Given the description of an element on the screen output the (x, y) to click on. 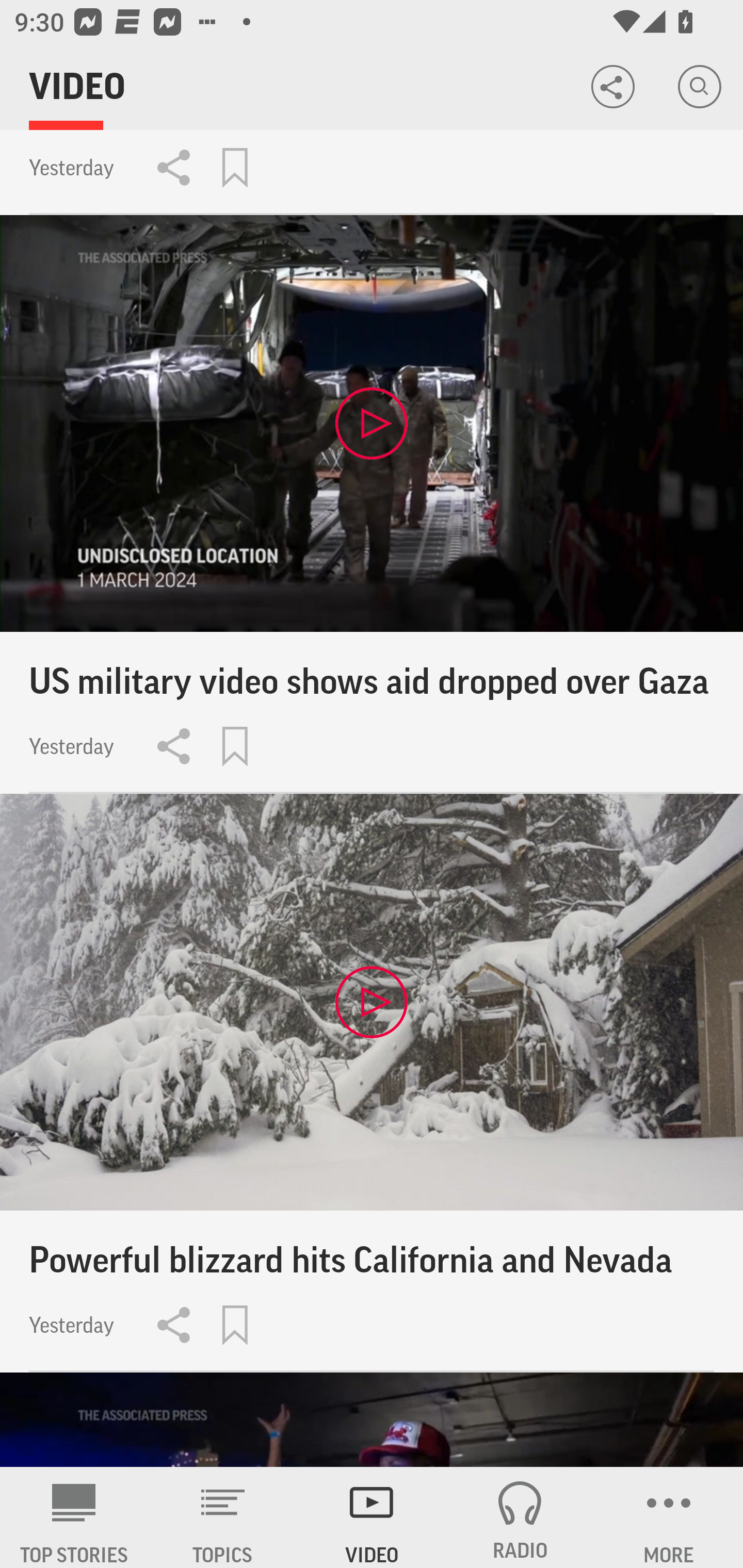
Yesterday (371, 172)
AP News TOP STORIES (74, 1517)
TOPICS (222, 1517)
VIDEO (371, 1517)
RADIO (519, 1517)
MORE (668, 1517)
